Given the description of an element on the screen output the (x, y) to click on. 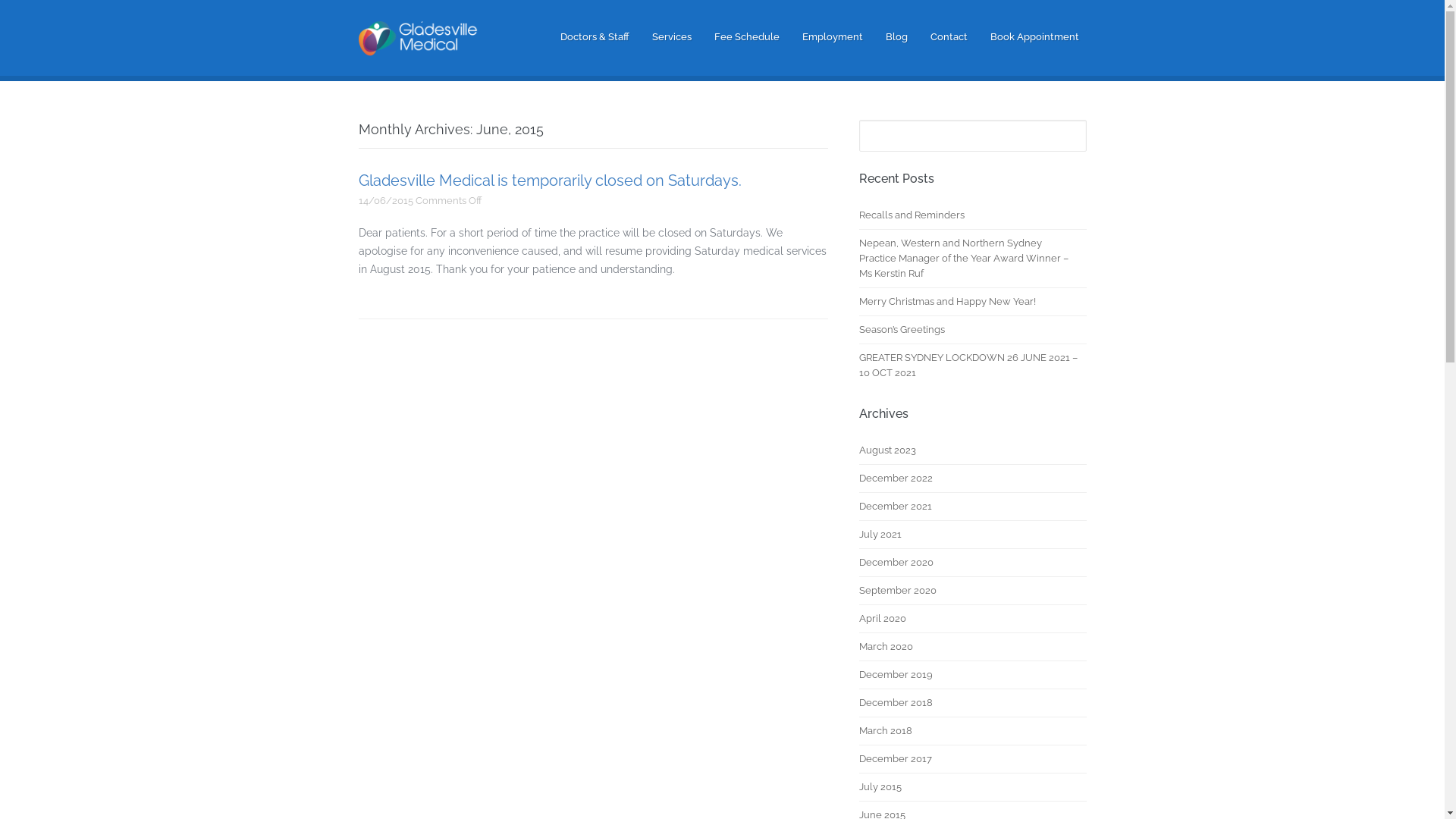
Doctors & Staff Element type: text (594, 36)
December 2021 Element type: text (894, 506)
December 2017 Element type: text (894, 759)
Employment Element type: text (832, 36)
July 2021 Element type: text (879, 534)
August 2023 Element type: text (886, 450)
Gladesville Medical is temporarily closed on Saturdays. Element type: text (548, 180)
Fee Schedule Element type: text (746, 36)
March 2018 Element type: text (884, 730)
Book Appointment Element type: text (1034, 36)
March 2020 Element type: text (885, 646)
Blog Element type: text (896, 36)
December 2019 Element type: text (894, 674)
December 2018 Element type: text (894, 702)
Contact Element type: text (948, 36)
Search Element type: text (28, 17)
Merry Christmas and Happy New Year! Element type: text (946, 301)
December 2020 Element type: text (895, 562)
September 2020 Element type: text (896, 590)
April 2020 Element type: text (881, 618)
Recalls and Reminders Element type: text (910, 215)
Gladesville Medical Element type: hover (423, 53)
July 2015 Element type: text (879, 787)
Services Element type: text (671, 36)
December 2022 Element type: text (894, 478)
